Given the description of an element on the screen output the (x, y) to click on. 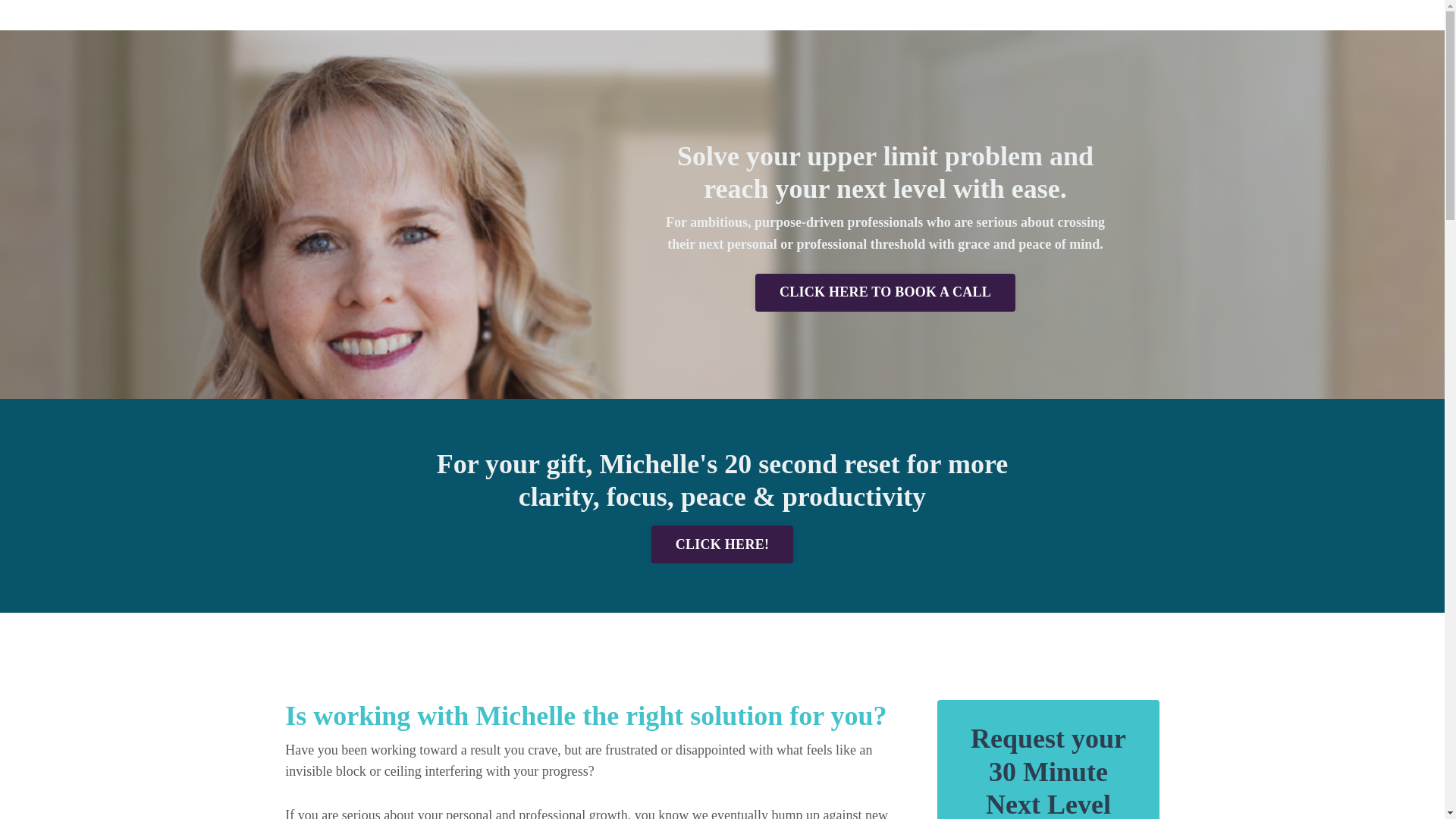
CLICK HERE TO BOOK A CALL (884, 292)
CLICK HERE! (721, 544)
